Given the description of an element on the screen output the (x, y) to click on. 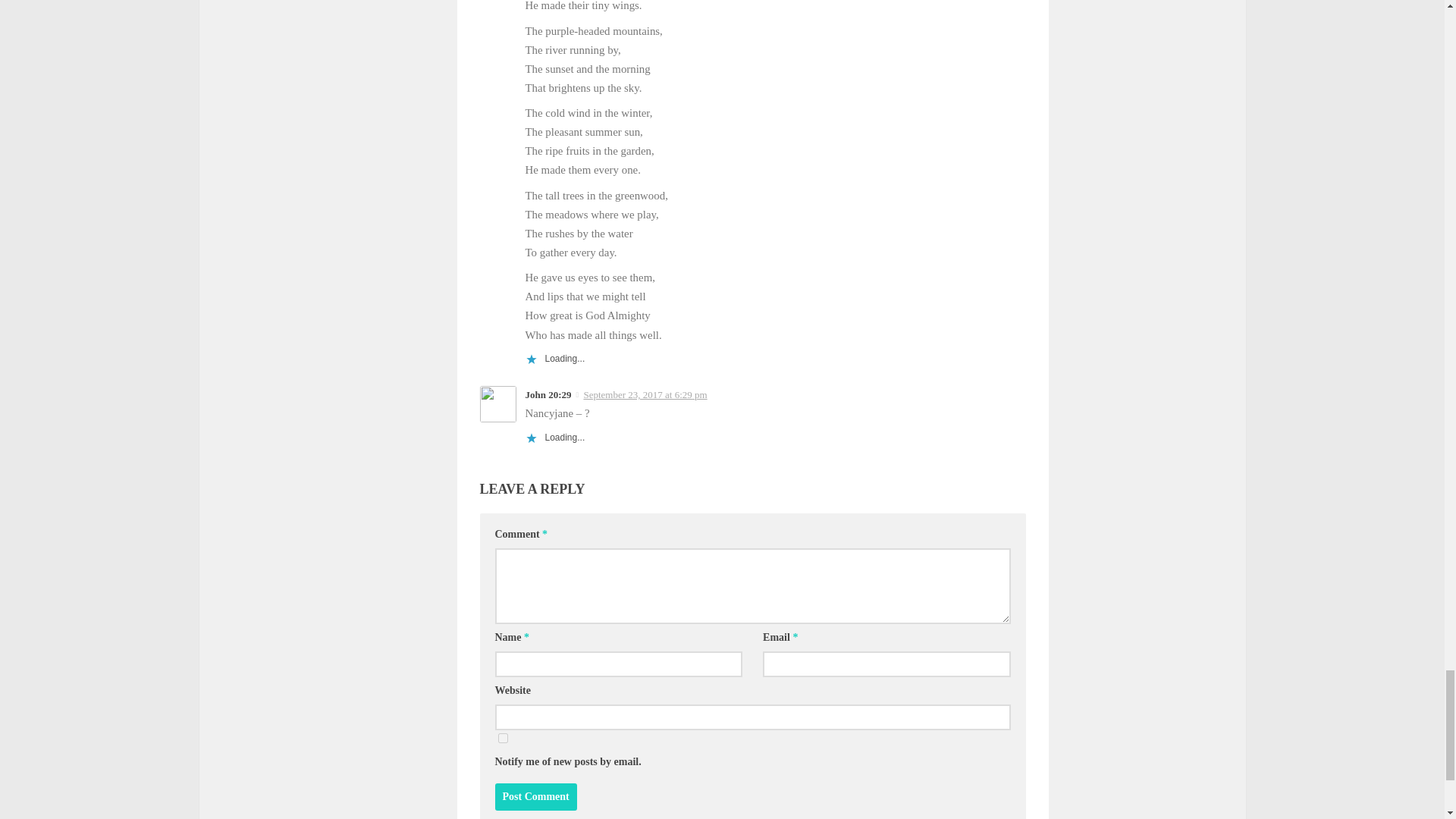
subscribe (501, 737)
Post Comment (535, 796)
